Given the description of an element on the screen output the (x, y) to click on. 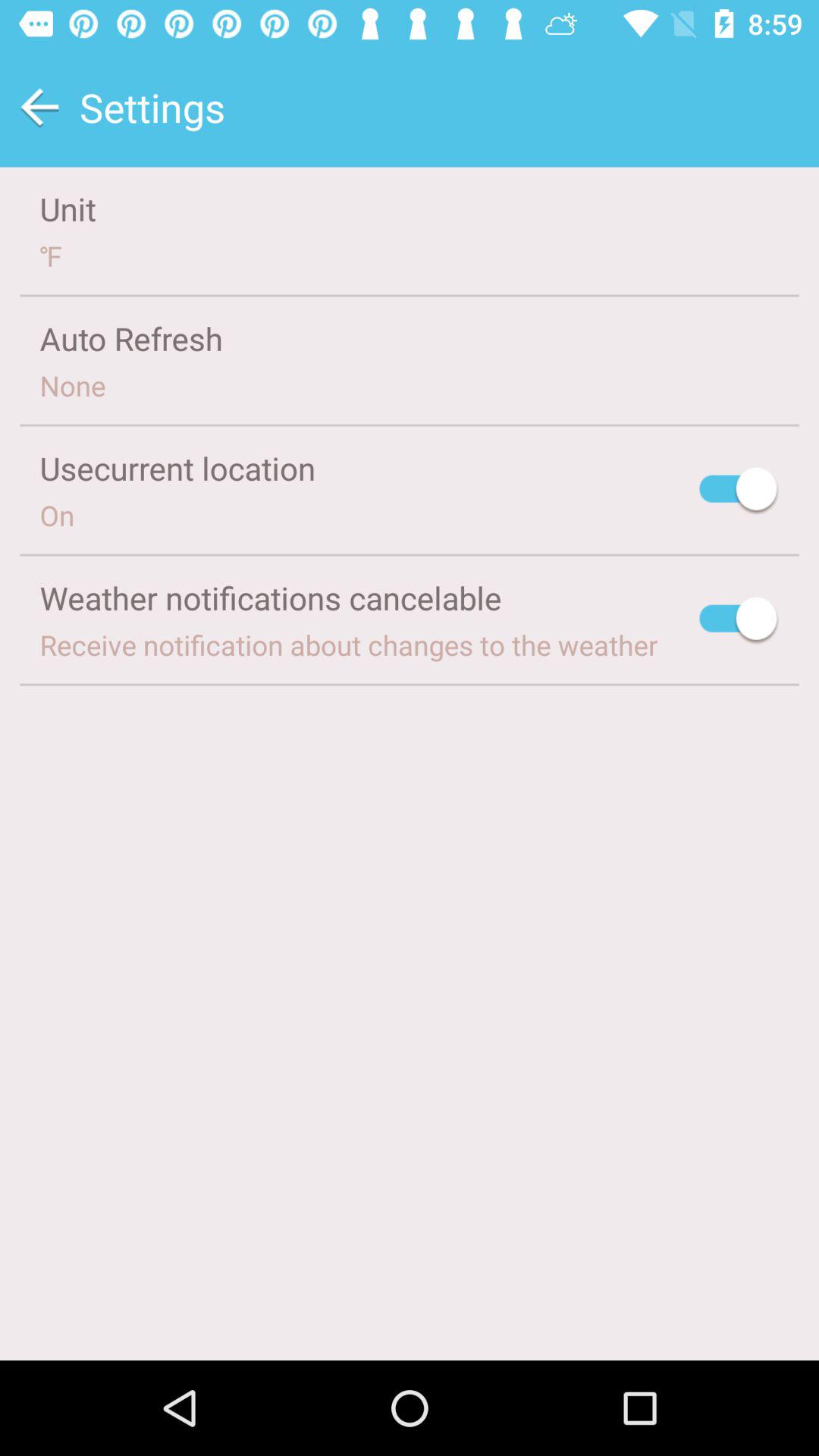
press item above unit (39, 107)
